Given the description of an element on the screen output the (x, y) to click on. 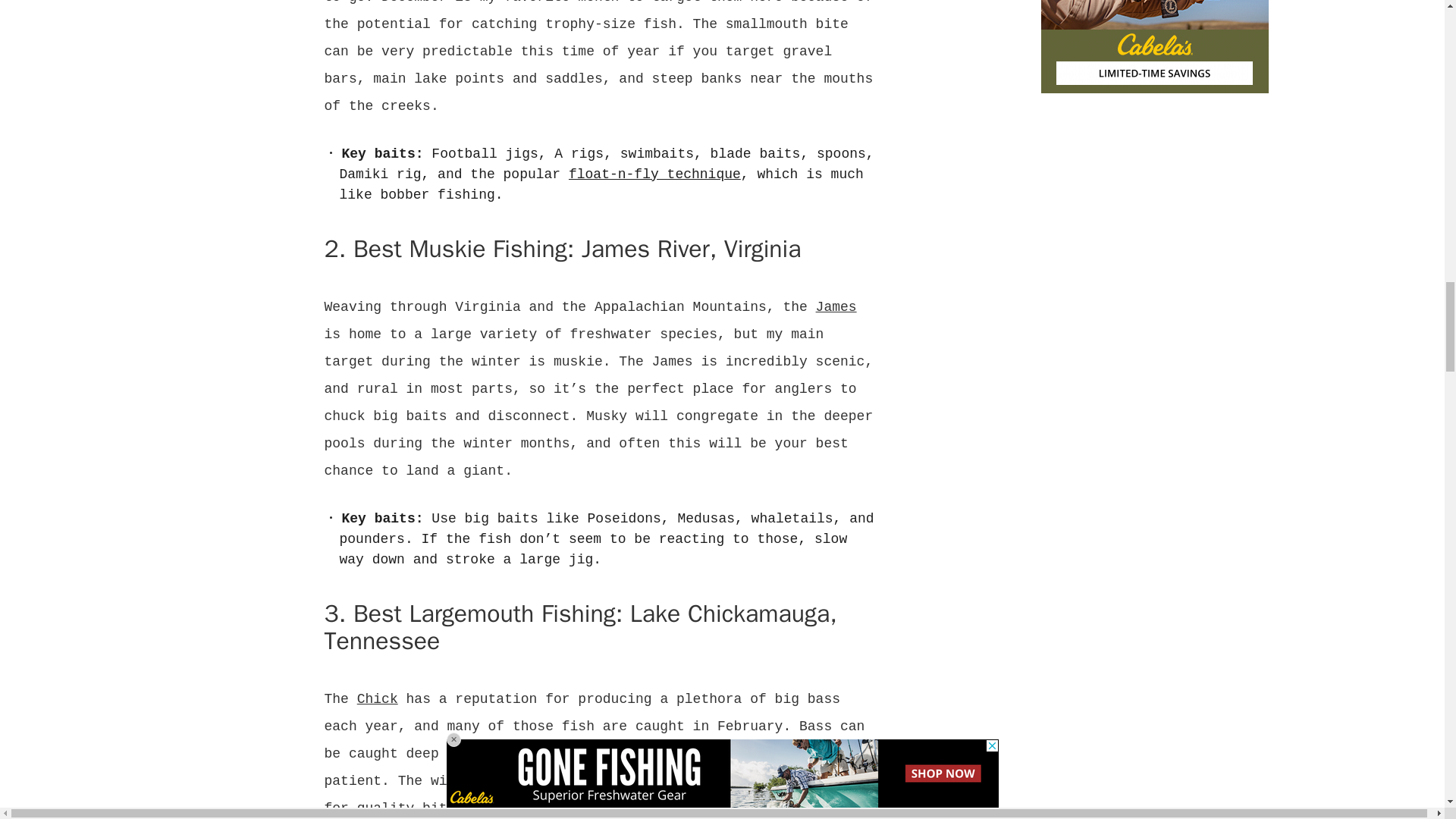
3rd party ad content (1154, 205)
